Given the description of an element on the screen output the (x, y) to click on. 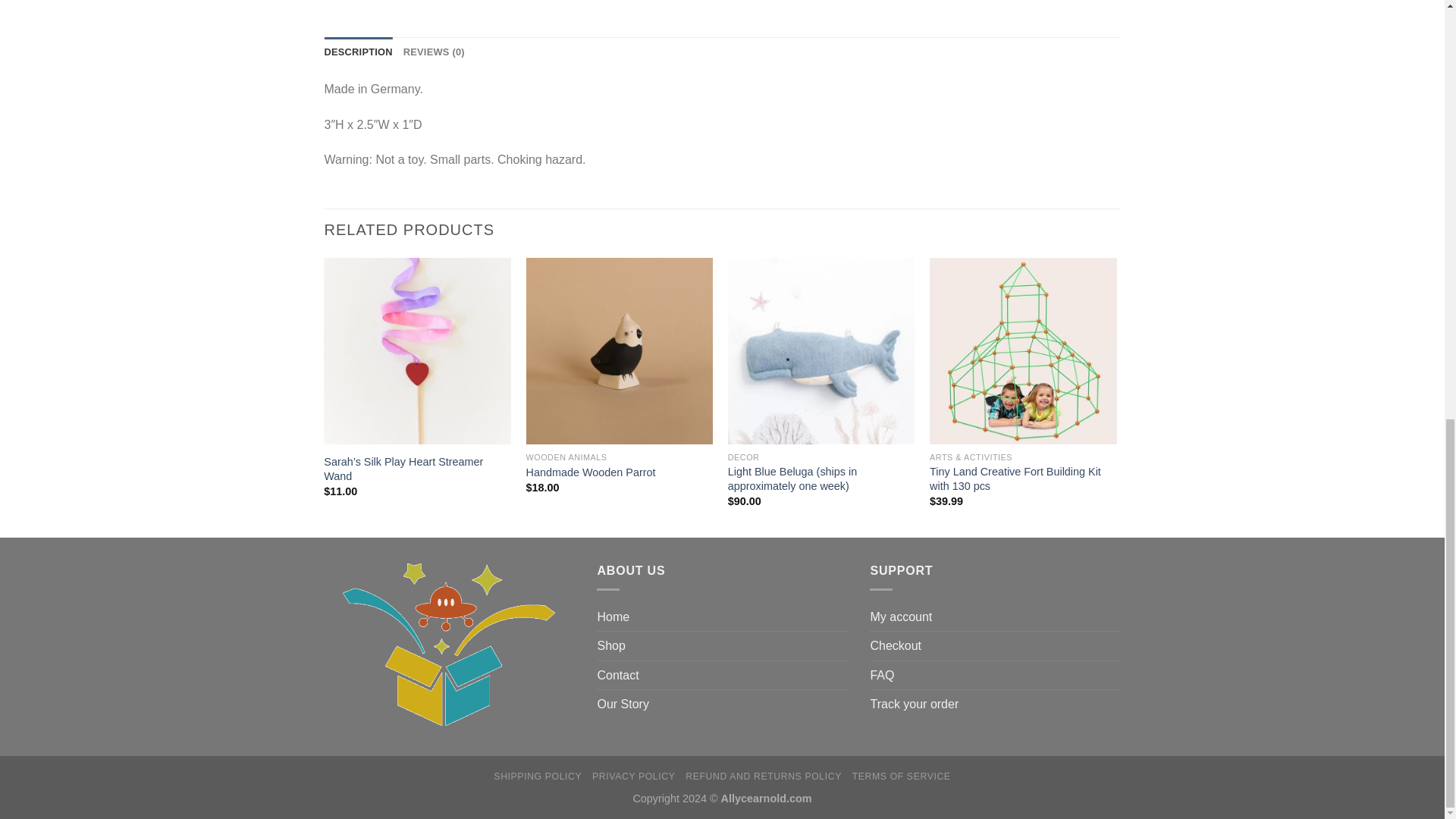
DESCRIPTION (358, 51)
